Given the description of an element on the screen output the (x, y) to click on. 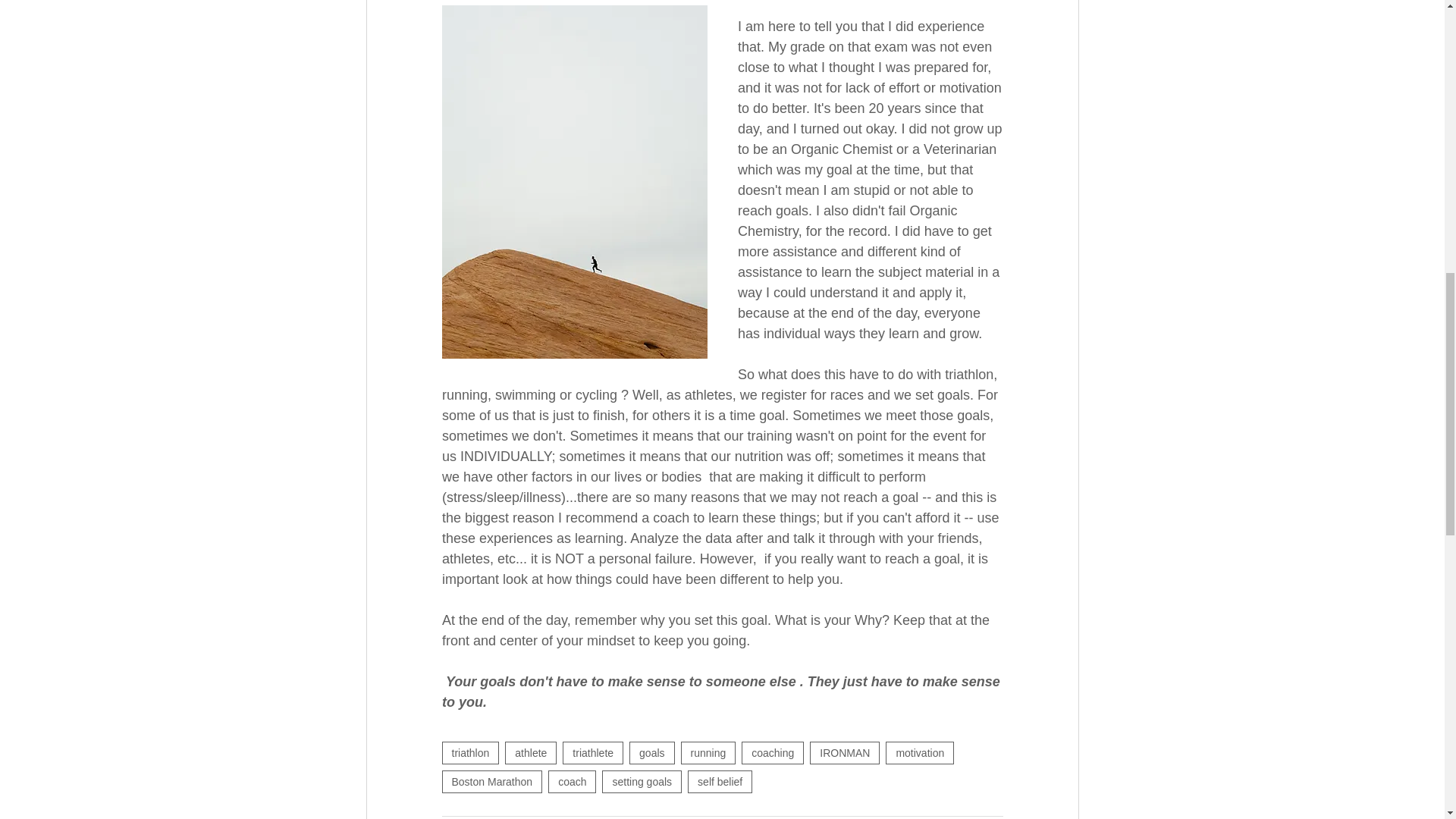
running (708, 753)
self belief (719, 781)
triathlon (470, 753)
athlete (530, 753)
triathlete (592, 753)
motivation (919, 753)
Boston Marathon (491, 781)
coach (571, 781)
coaching (772, 753)
goals (651, 753)
